Given the description of an element on the screen output the (x, y) to click on. 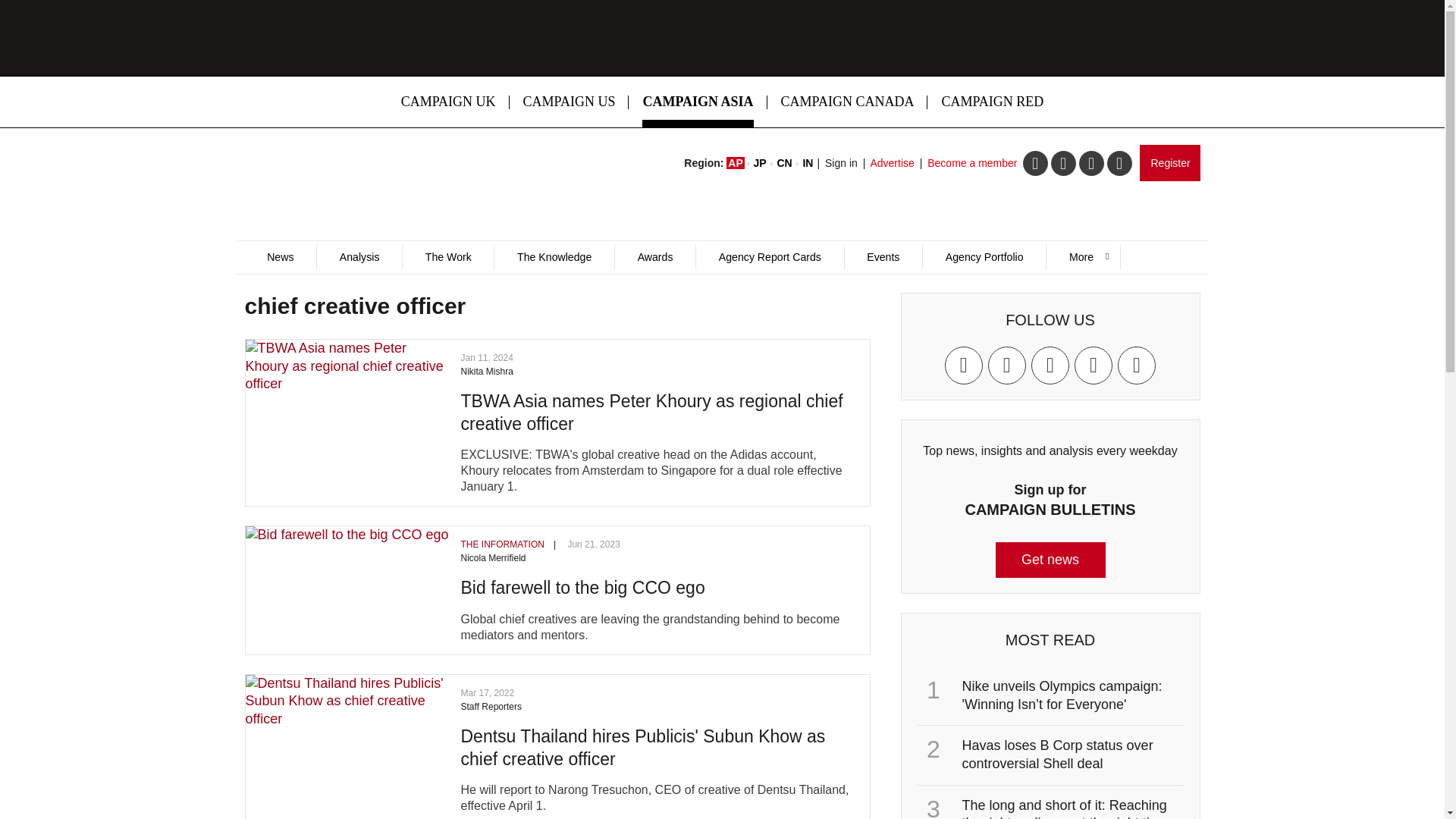
News (279, 257)
AP (735, 162)
Search (952, 310)
Become a member (971, 162)
Register (1168, 162)
Sign in (841, 162)
Awards (654, 257)
JP (760, 162)
Advertise (891, 162)
The Knowledge (553, 257)
CAMPAIGN CANADA (847, 101)
CAMPAIGN RED (992, 101)
CN (783, 162)
Sign in (841, 162)
More (1082, 257)
